Given the description of an element on the screen output the (x, y) to click on. 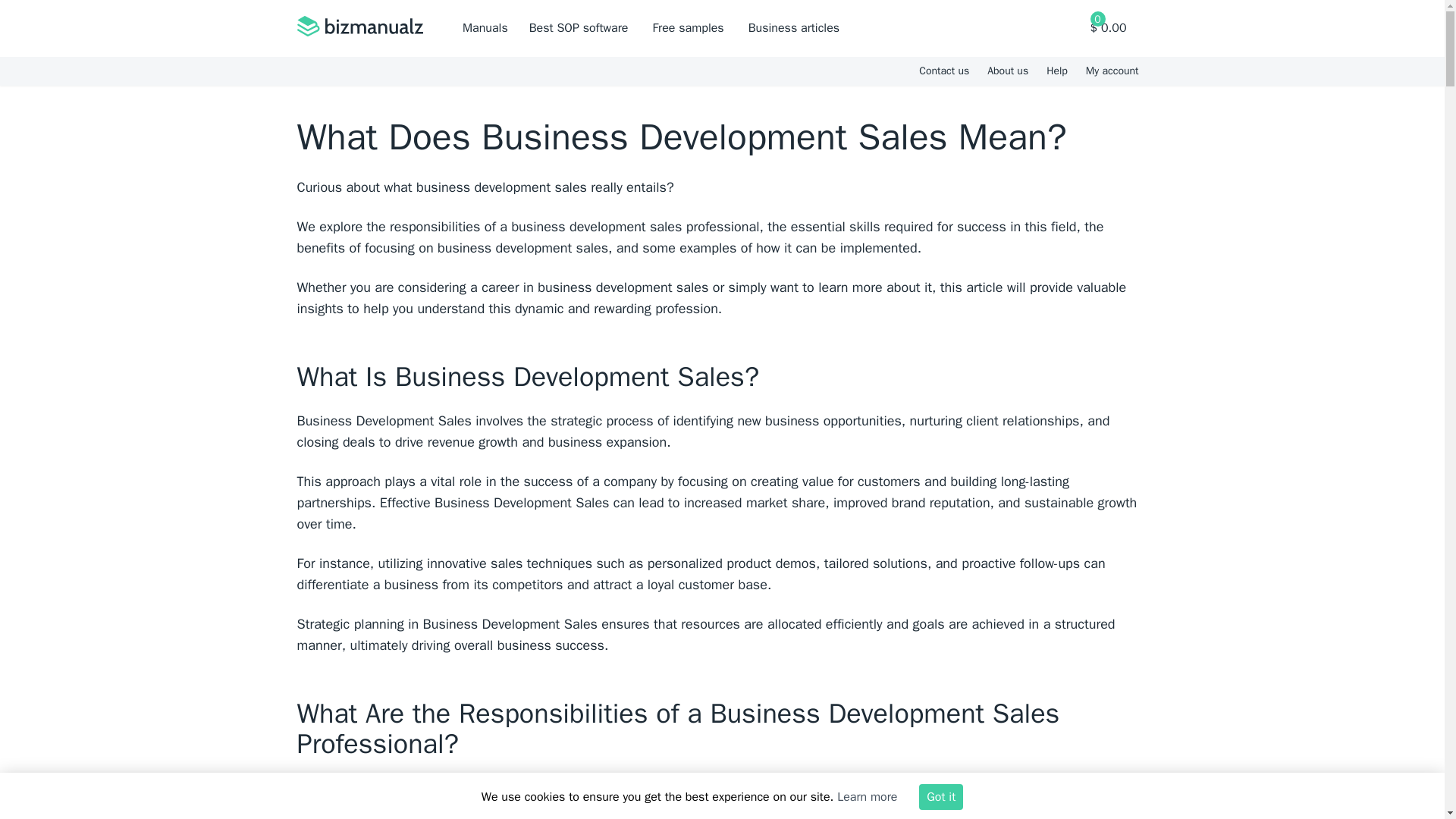
Bizmanualz (360, 28)
Free samples (687, 28)
Business articles (794, 28)
Best SOP software (578, 28)
